Given the description of an element on the screen output the (x, y) to click on. 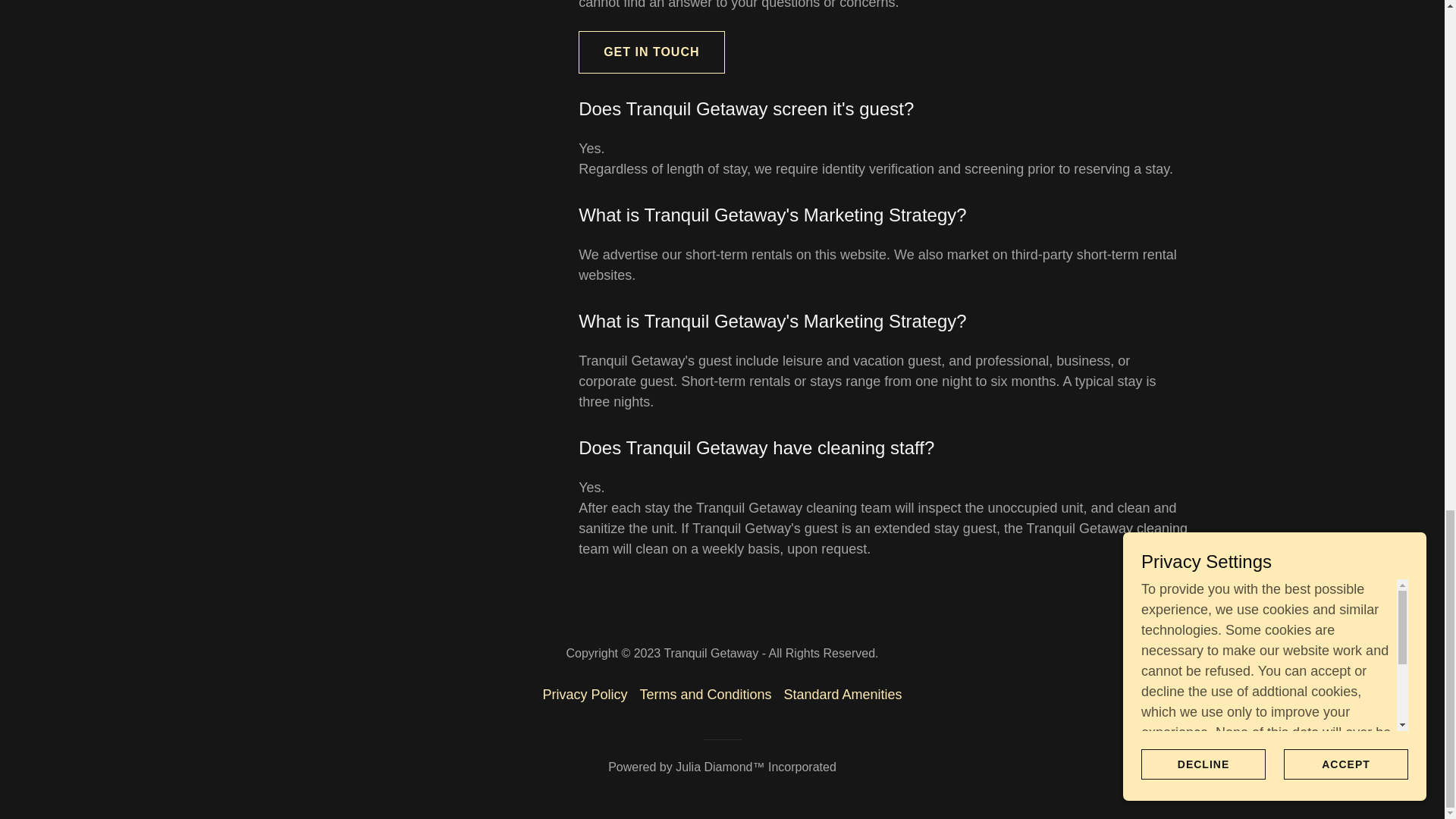
Terms and Conditions (705, 694)
GET IN TOUCH (650, 52)
Standard Amenities (842, 694)
Privacy Policy (584, 694)
